Given the description of an element on the screen output the (x, y) to click on. 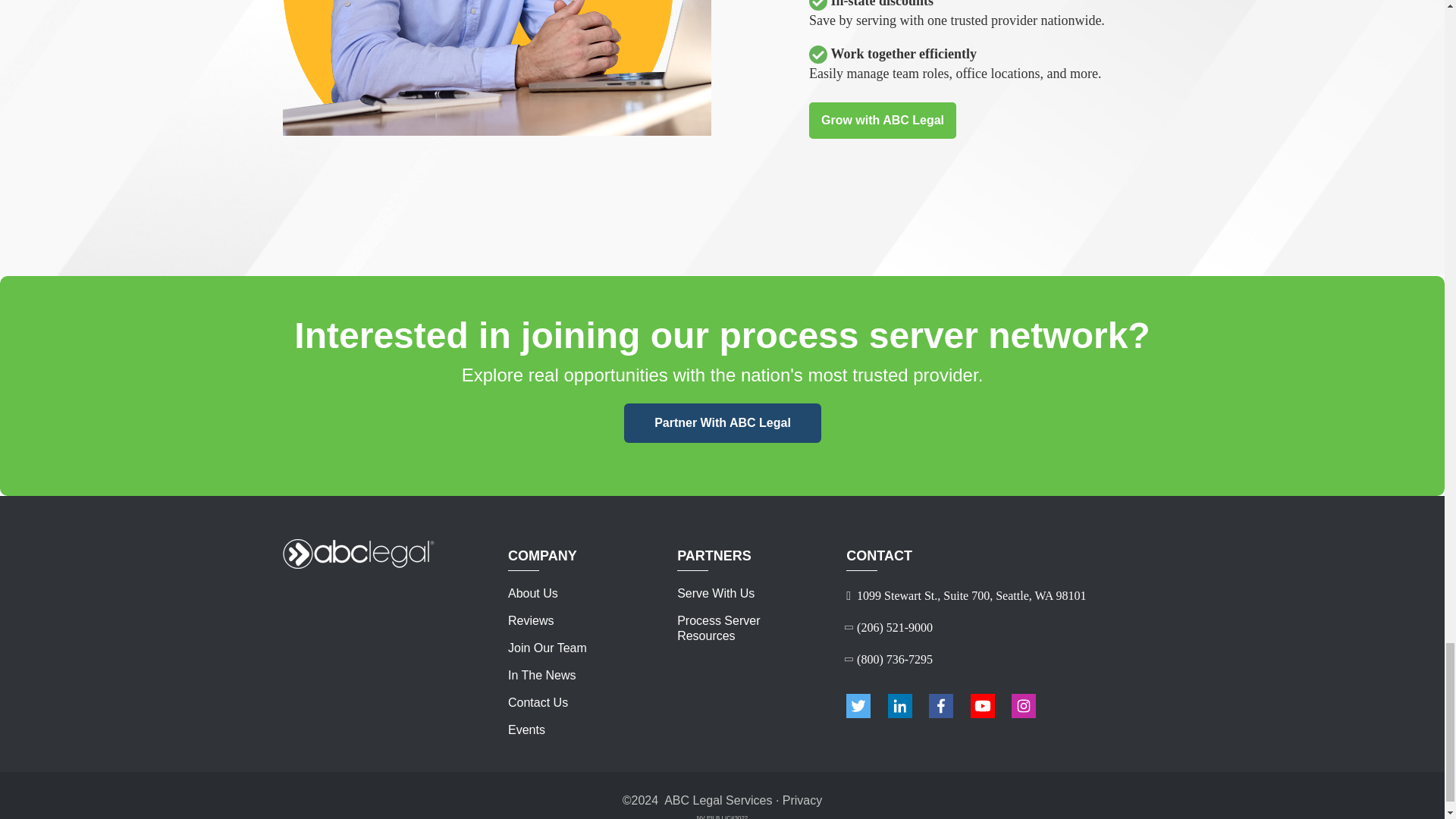
ABClegal-Logo-white (357, 553)
Grow with ABC Legal (882, 120)
Embedded CTA (722, 423)
